Given the description of an element on the screen output the (x, y) to click on. 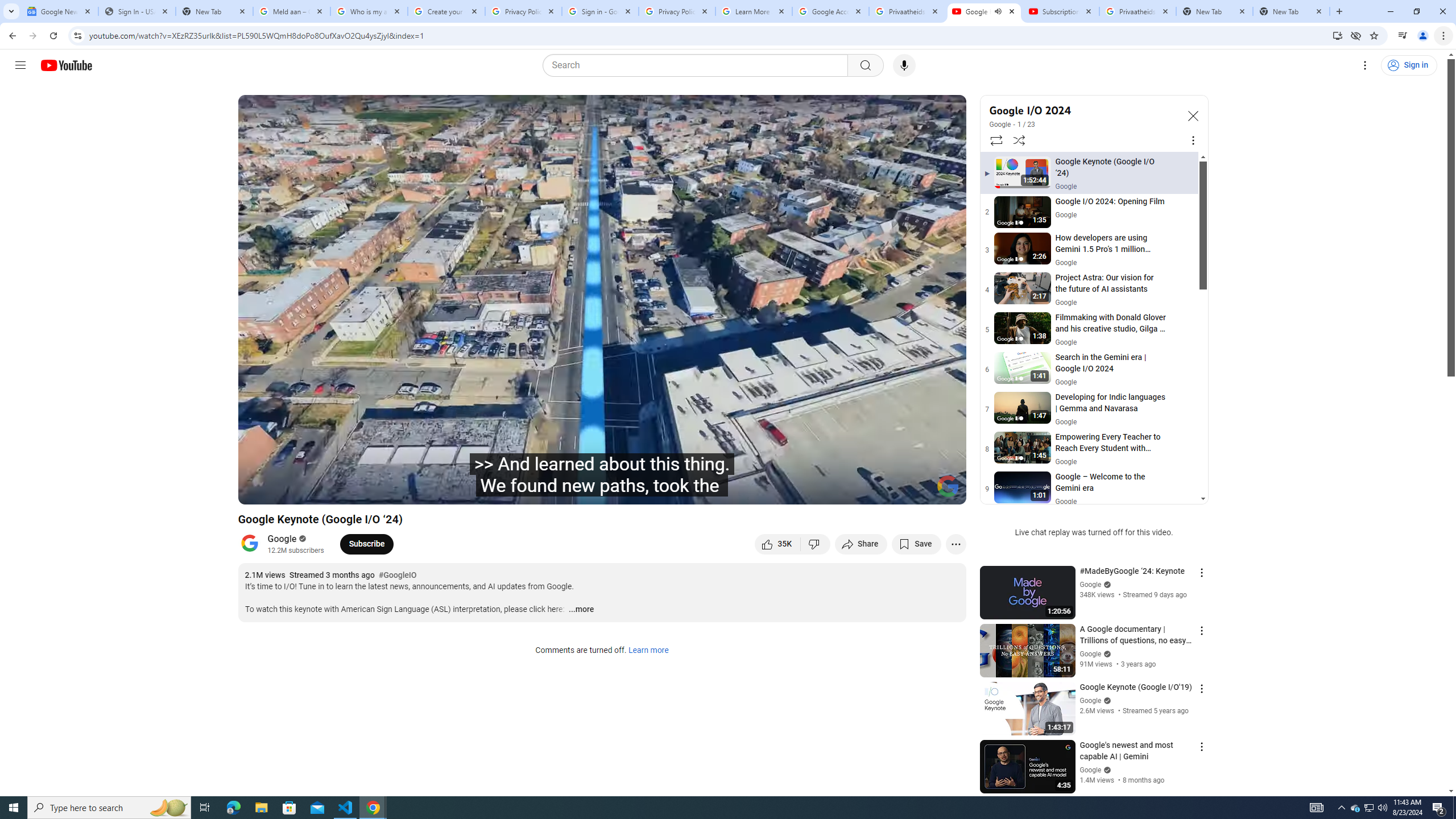
Subscribe to Google. (366, 543)
New Tab (213, 11)
Shuffle playlist (1018, 140)
like this video along with 35,367 other people (777, 543)
Google Account (830, 11)
Opening Film (434, 490)
Loop playlist (995, 140)
Mute (m) (338, 490)
